Given the description of an element on the screen output the (x, y) to click on. 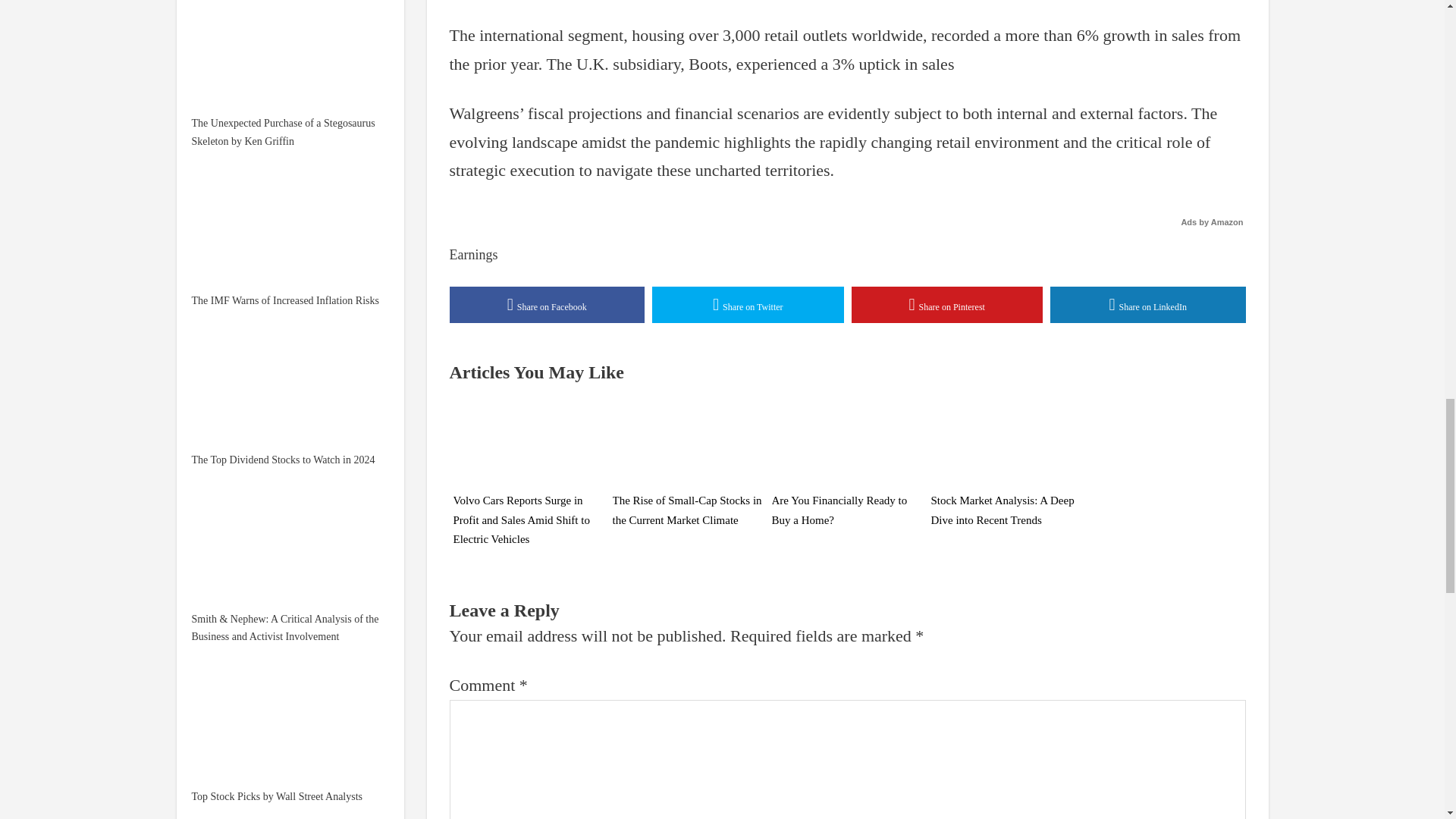
Earnings (472, 254)
